Given the description of an element on the screen output the (x, y) to click on. 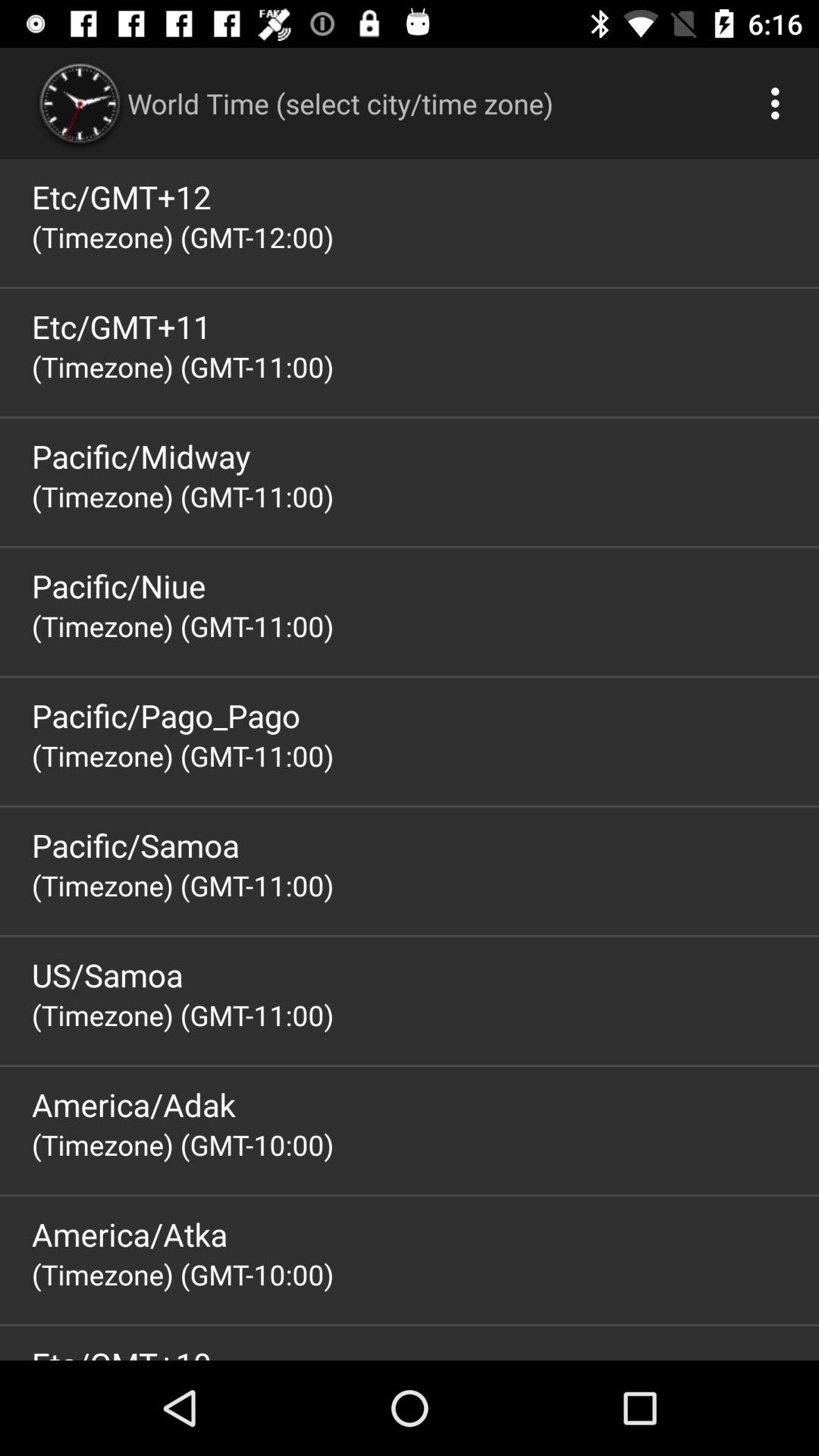
tap the item to the right of the world time select item (779, 103)
